Given the description of an element on the screen output the (x, y) to click on. 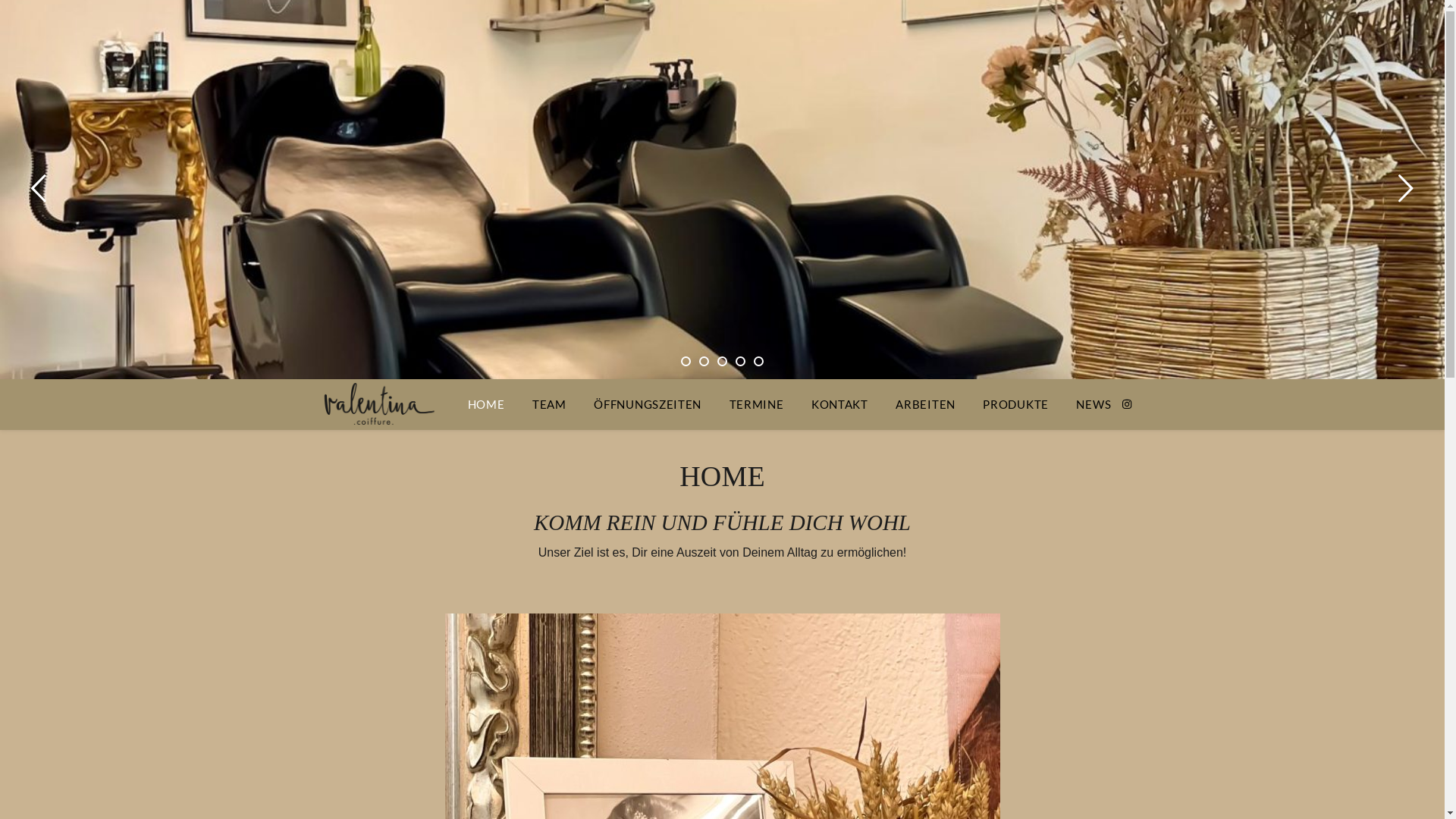
NEWS Element type: text (1086, 404)
PRODUKTE Element type: text (1015, 404)
HOME Element type: text (492, 404)
TEAM Element type: text (549, 404)
Coiffure Valentina Element type: hover (375, 404)
KONTAKT Element type: text (839, 404)
TERMINE Element type: text (756, 404)
ARBEITEN Element type: text (925, 404)
